Given the description of an element on the screen output the (x, y) to click on. 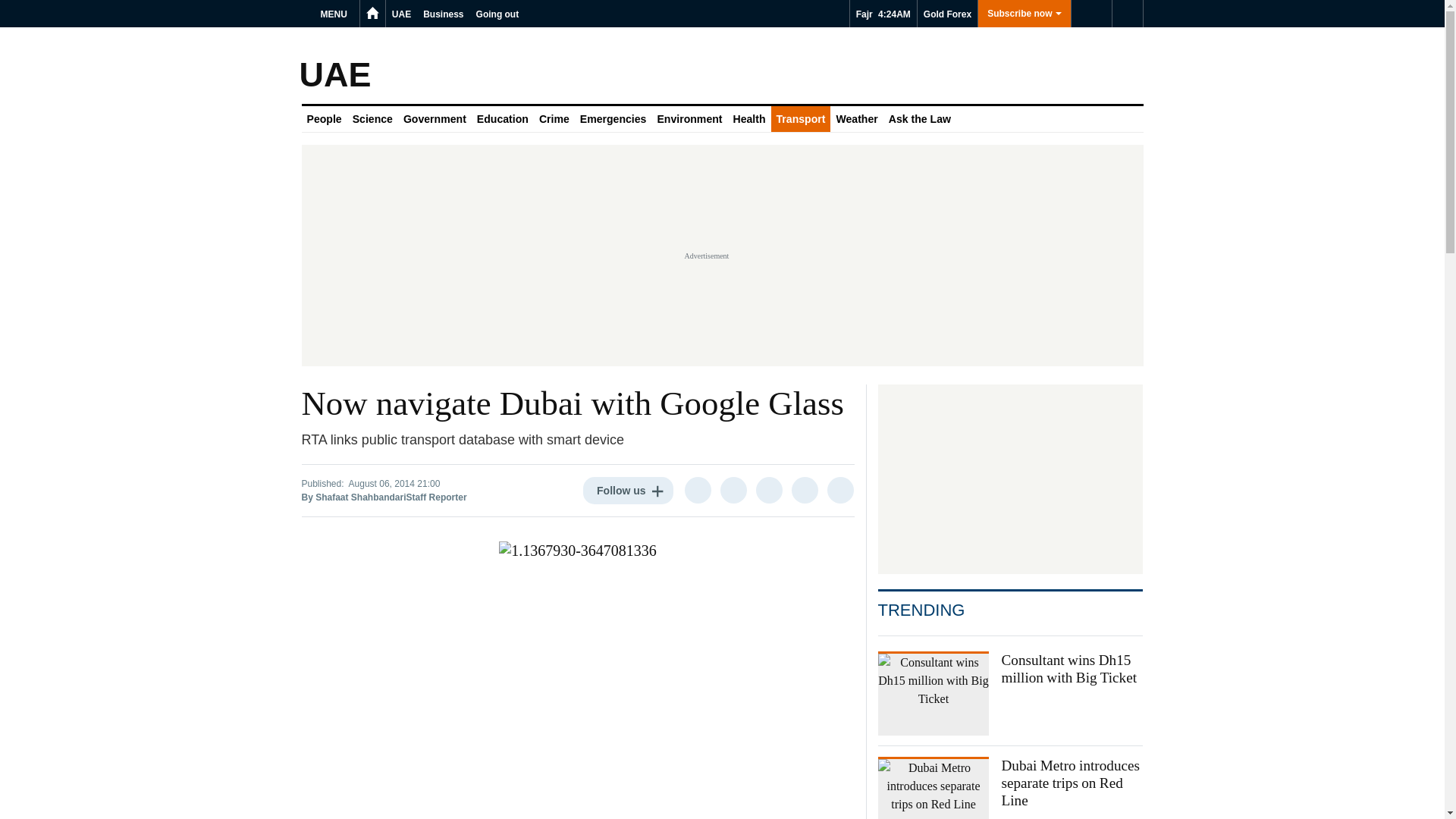
UAE (400, 13)
Going out (497, 13)
MENU (336, 13)
Business (442, 13)
Gold Forex (946, 13)
Fajr 4:24AM (883, 13)
Subscribe now (1024, 13)
